Given the description of an element on the screen output the (x, y) to click on. 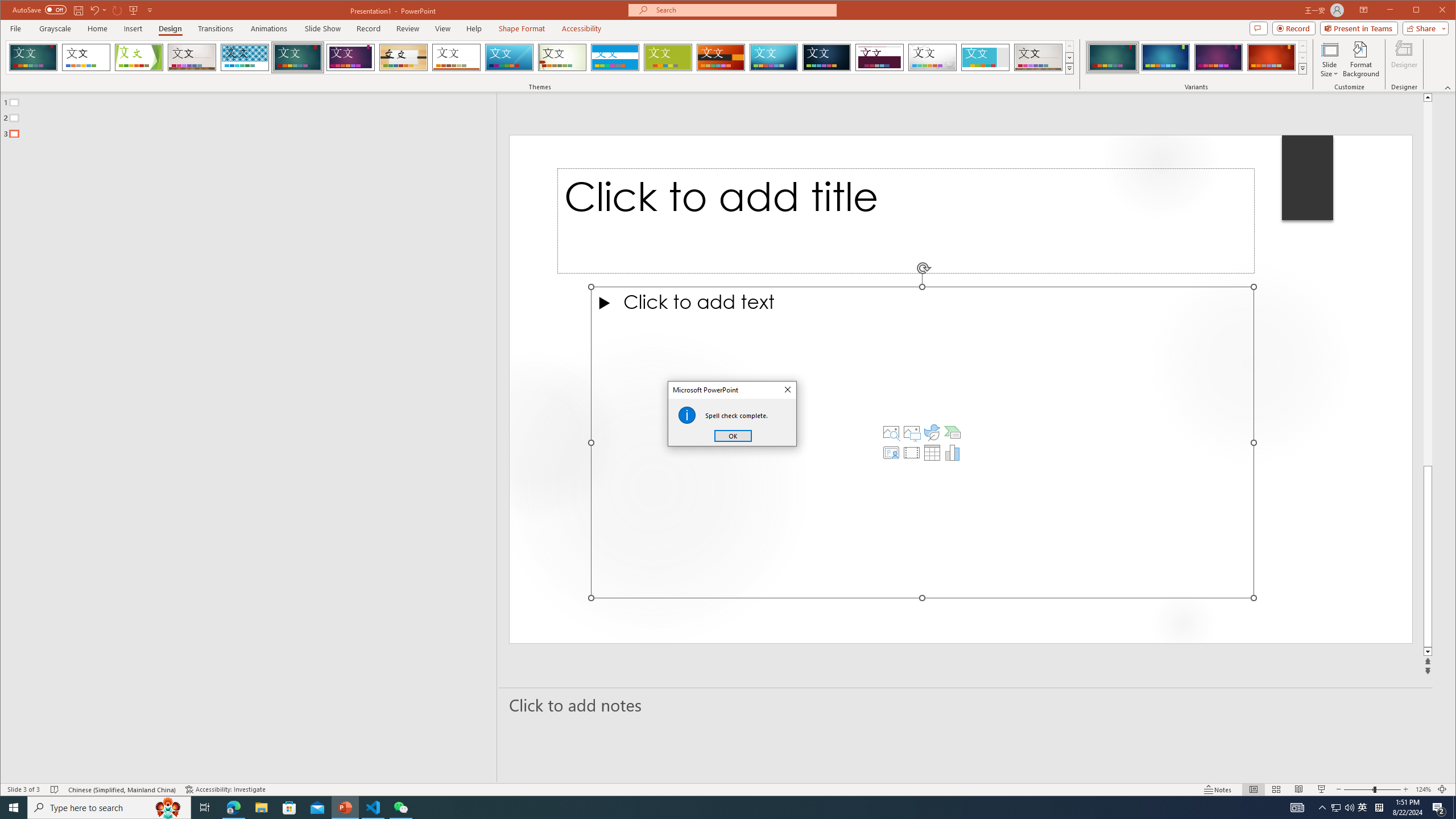
Frame (985, 57)
Ion Variant 1 (1112, 57)
Circuit (773, 57)
